Given the description of an element on the screen output the (x, y) to click on. 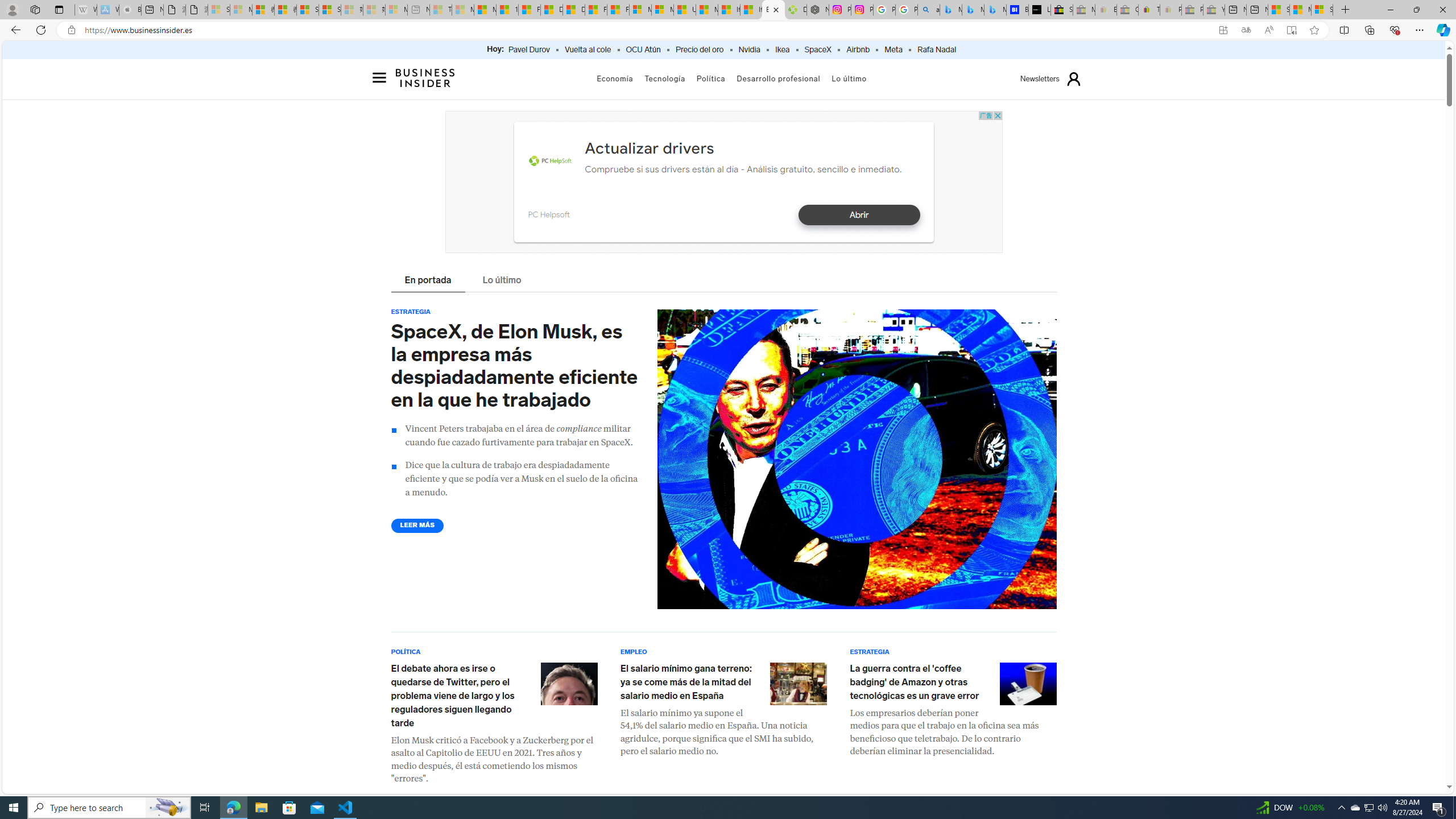
Foo BAR | Trusted Community Engagement and Contributions (618, 9)
Top Stories - MSN - Sleeping (441, 9)
New tab - Sleeping (418, 9)
Microsoft Bing Travel - Flights from Hong Kong to Bangkok (950, 9)
Logo BusinessInsider.es (425, 76)
Descarga Driver Updater (795, 9)
Nvidia (749, 49)
Ikea (782, 49)
Abrir (858, 214)
Elon Musk (569, 683)
